Given the description of an element on the screen output the (x, y) to click on. 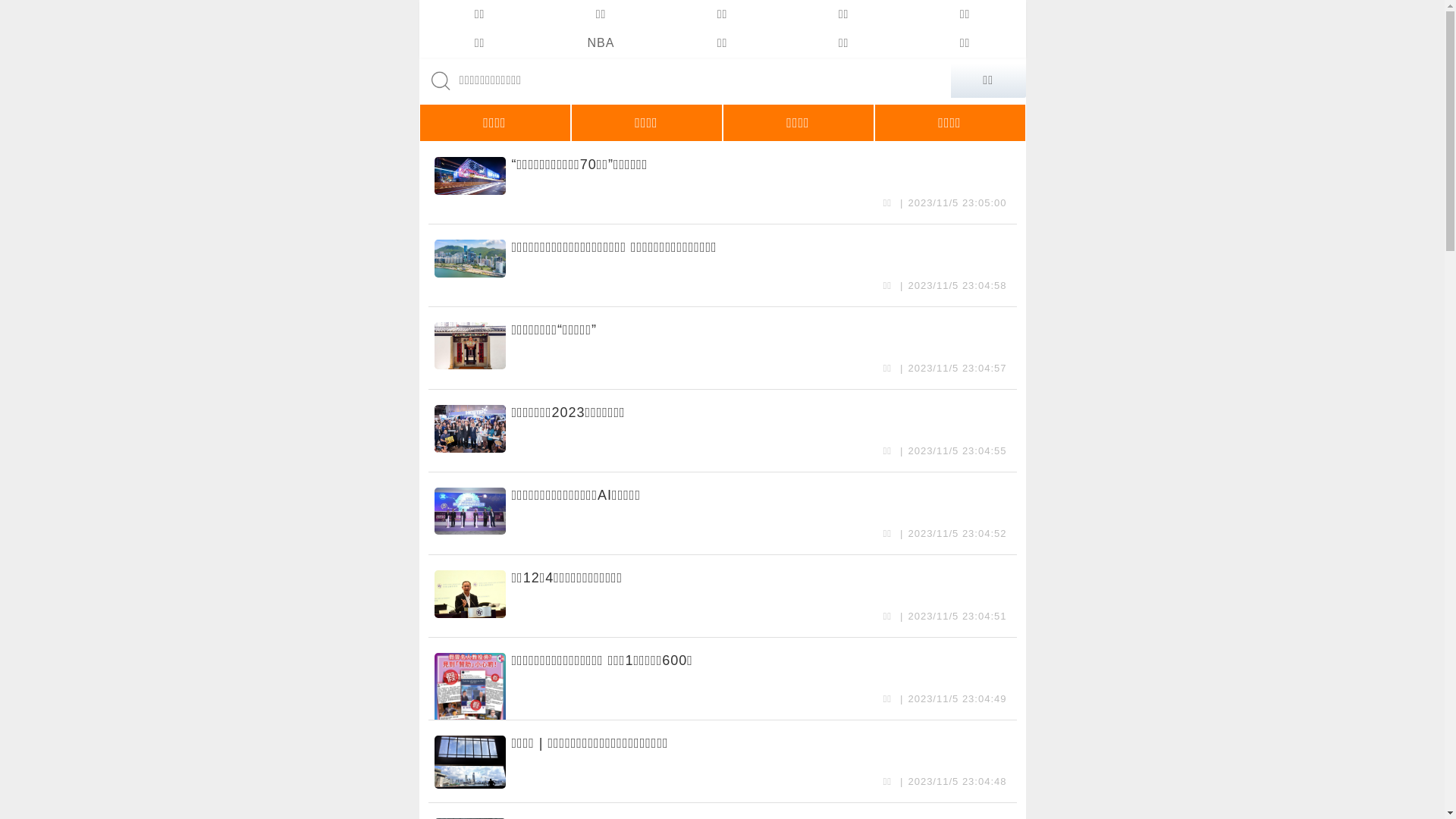
NBA Element type: text (600, 42)
